Given the description of an element on the screen output the (x, y) to click on. 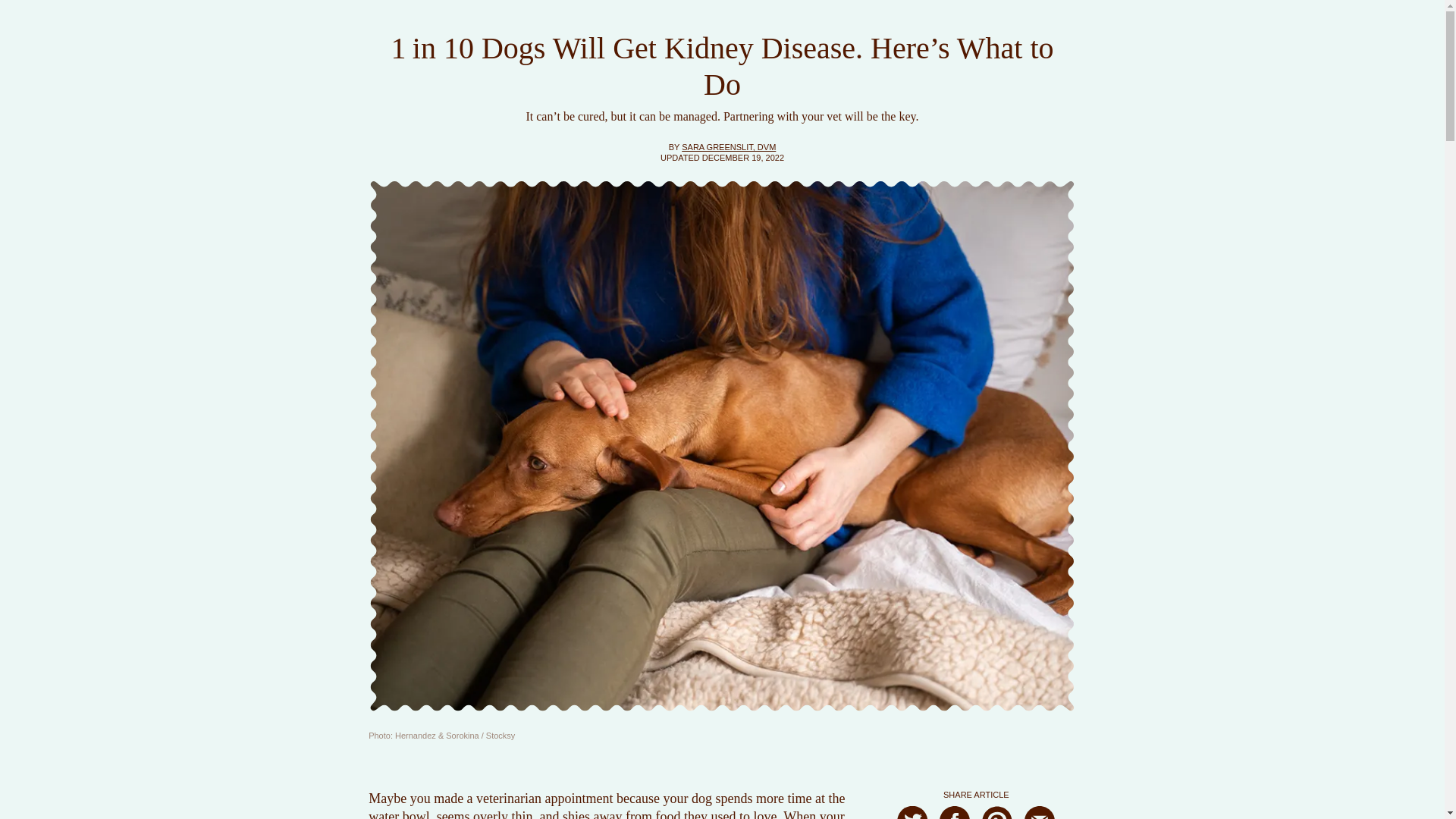
Email (1039, 812)
Email (1039, 812)
SARA GREENSLIT, DVM (728, 146)
Facebook (954, 812)
Skip to main content (5, 6)
Pinterest (996, 812)
Facebook (954, 812)
shies away (591, 814)
Twitter (912, 812)
Twitter (911, 812)
Pinterest (996, 812)
